Given the description of an element on the screen output the (x, y) to click on. 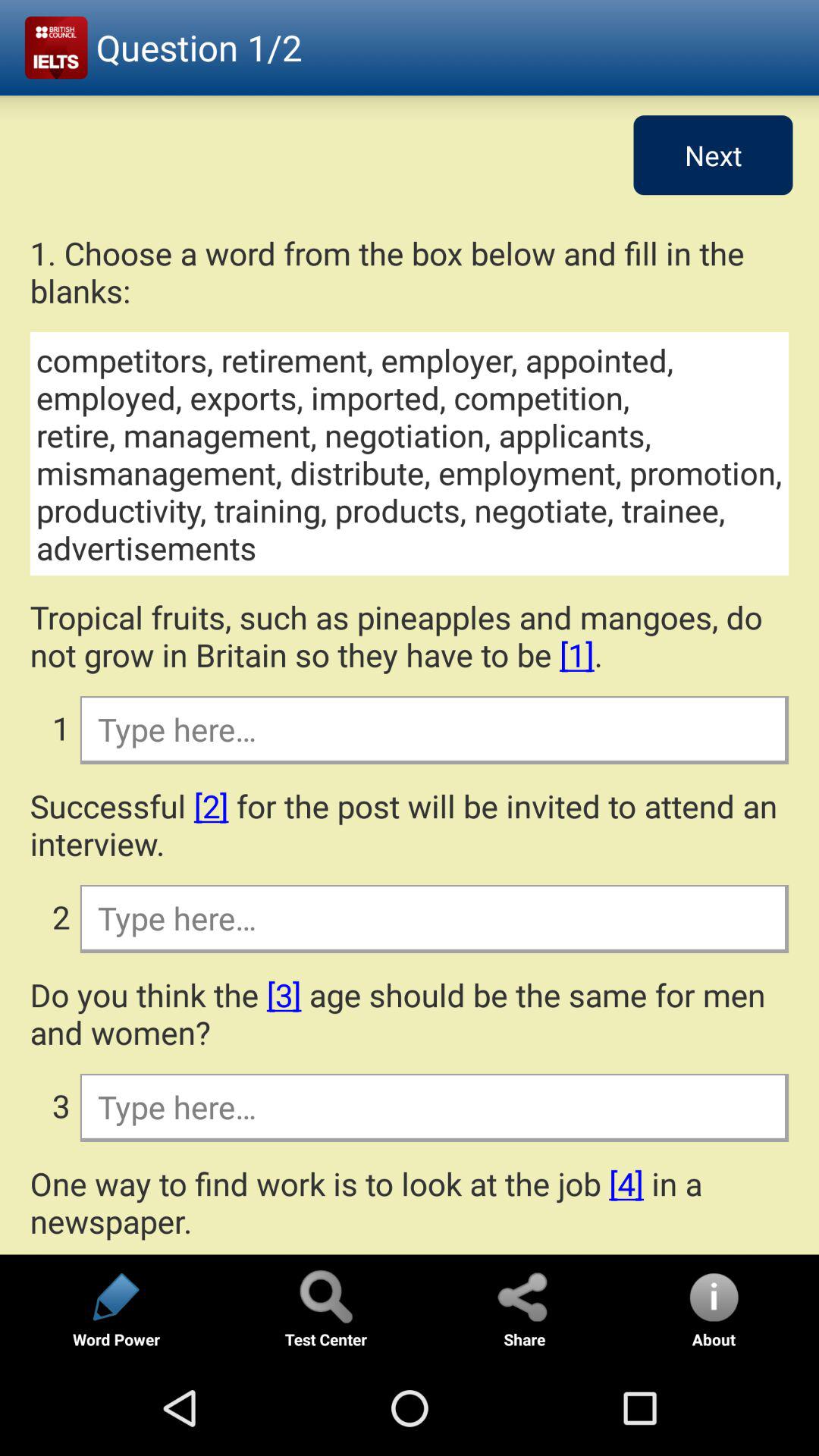
comment option (432, 728)
